Given the description of an element on the screen output the (x, y) to click on. 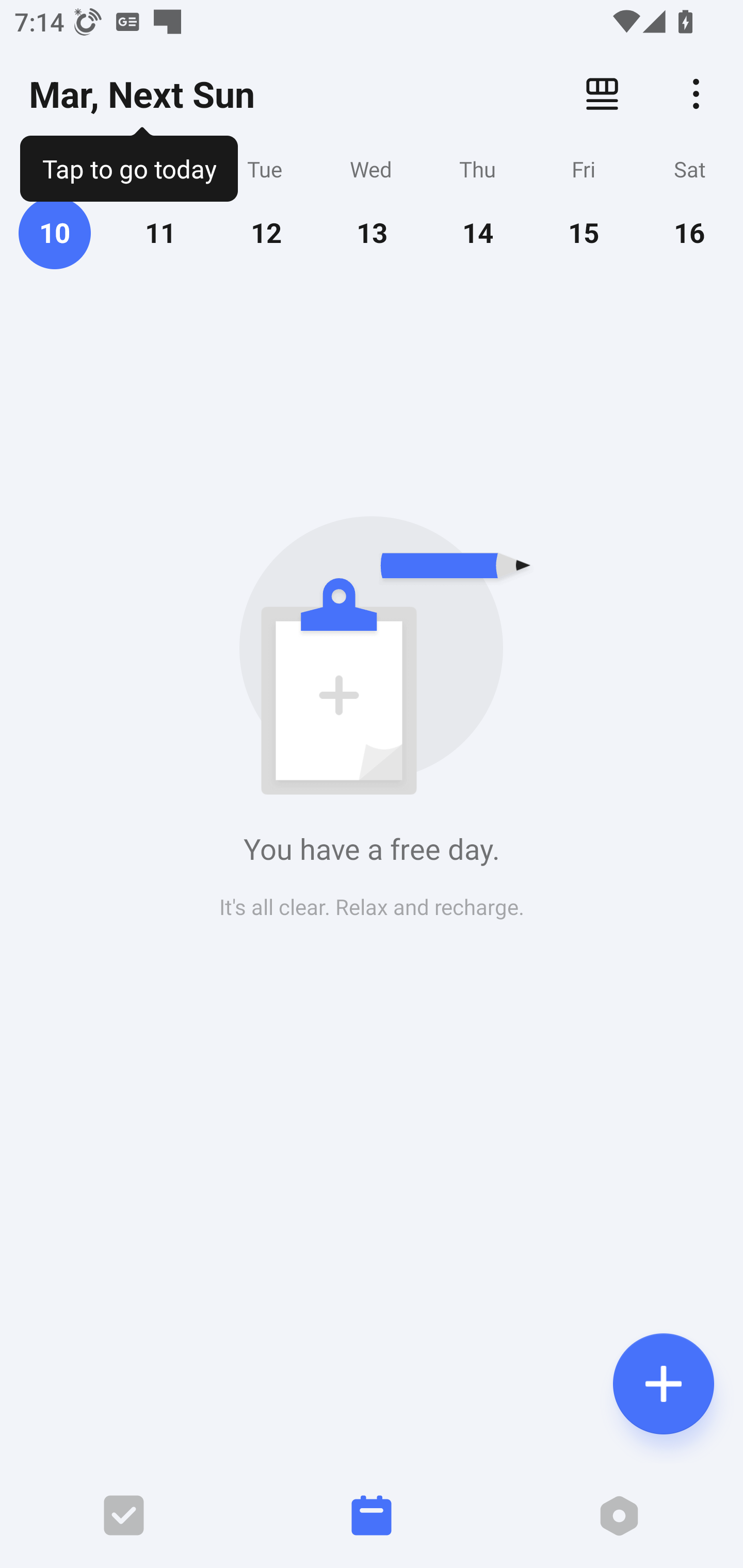
Mar, Next Sun (141, 93)
Tap to go today (128, 164)
